Given the description of an element on the screen output the (x, y) to click on. 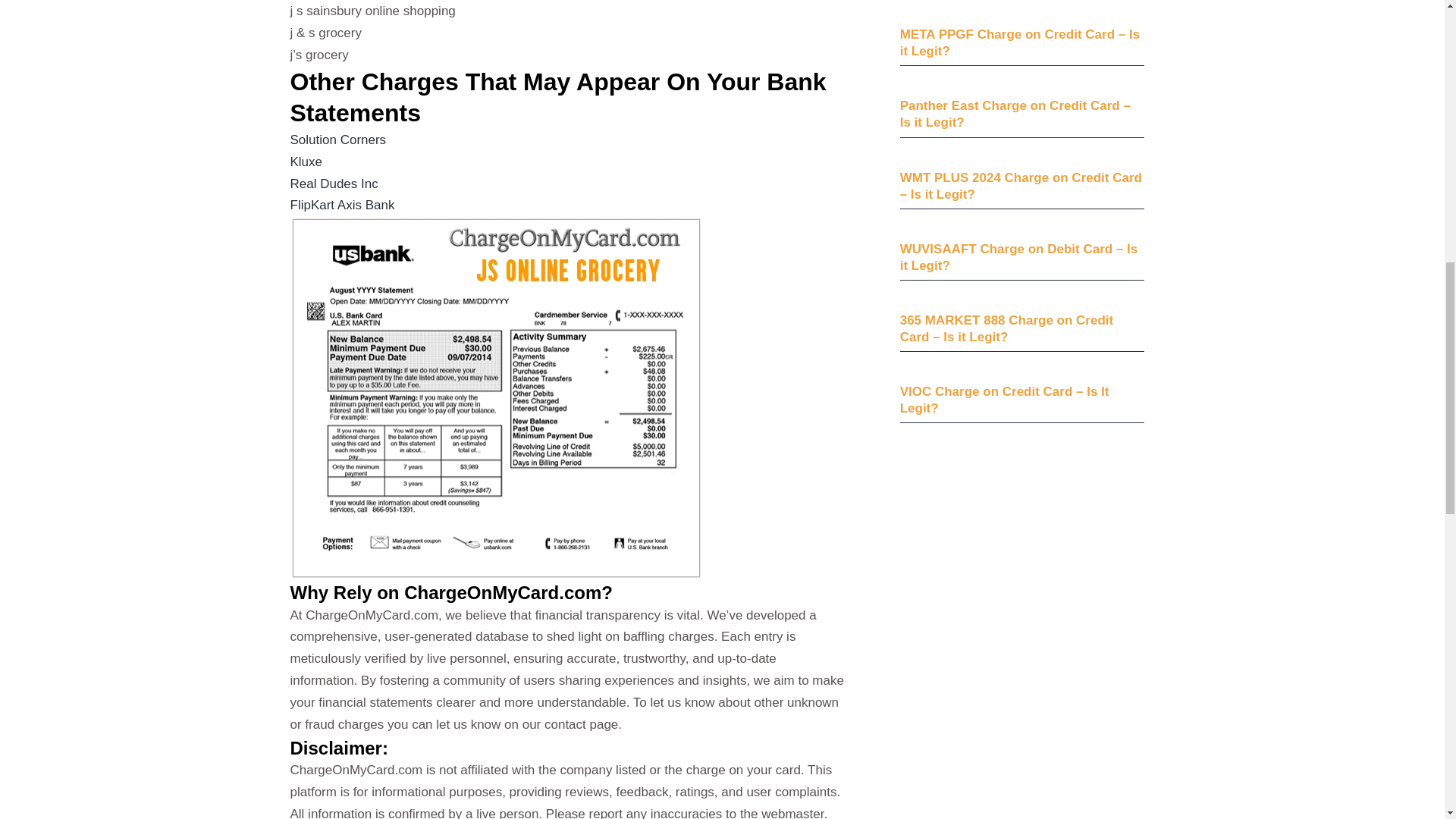
Solution Corners (337, 139)
Kluxe (305, 161)
Real Dudes Inc (333, 183)
FlipKart Axis Bank (341, 205)
